Given the description of an element on the screen output the (x, y) to click on. 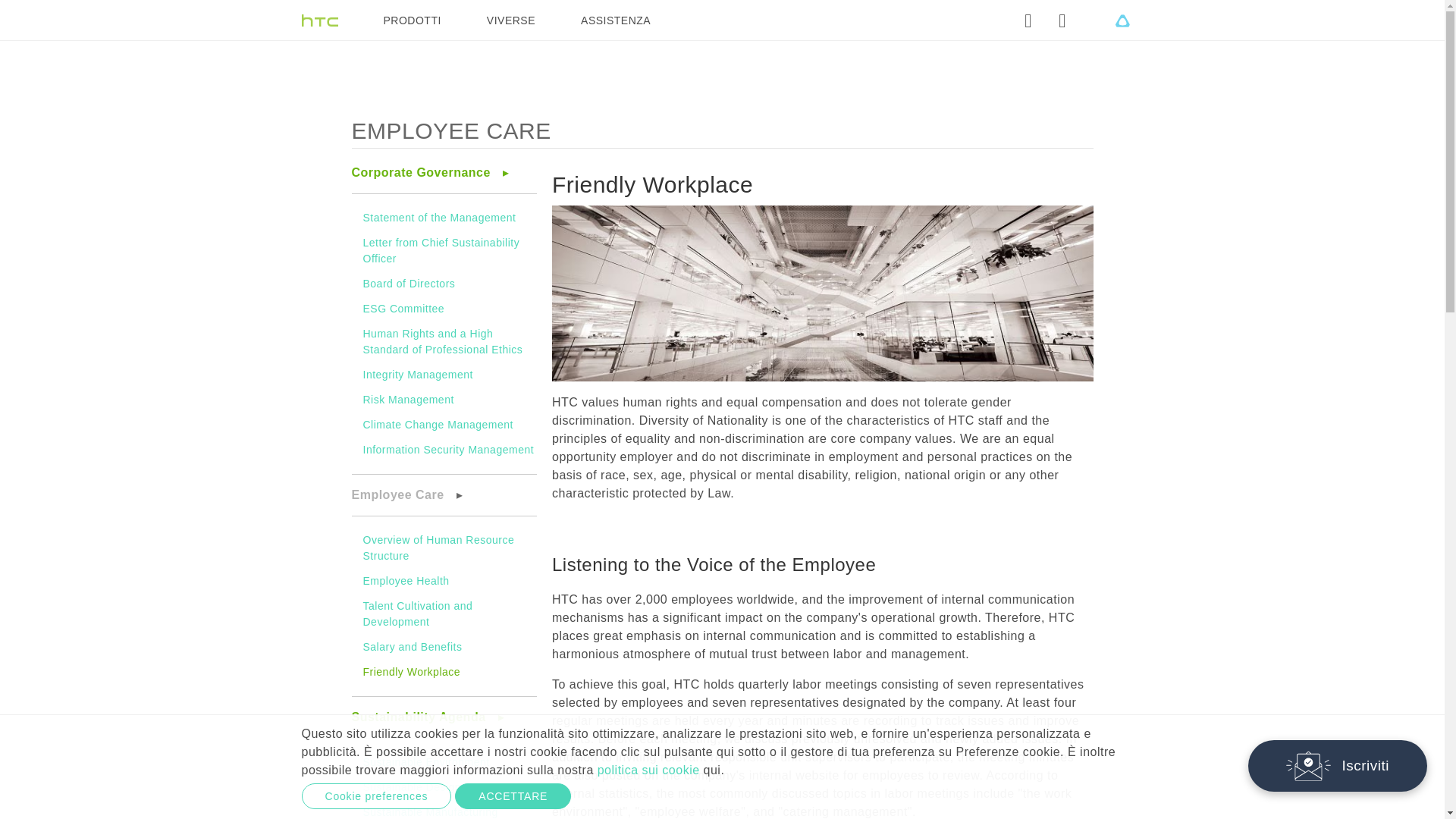
ASSISTENZA (615, 20)
Sustainable Environment (425, 761)
Employee Health (405, 580)
VIVERSE (510, 20)
Sustainable Manufacturing Process (429, 812)
Talent Cultivation and Development (416, 613)
Overview of Human Resource Structure  (437, 547)
Overview of Human Resource Structure (437, 547)
Talent Cultivation and Development (416, 613)
Statement of the Management (438, 217)
Letter from Chief Sustainability Officer (440, 250)
ESG Committee (403, 308)
Climate Change Management (437, 424)
Sustainable Design (411, 787)
Employee Health (405, 580)
